Given the description of an element on the screen output the (x, y) to click on. 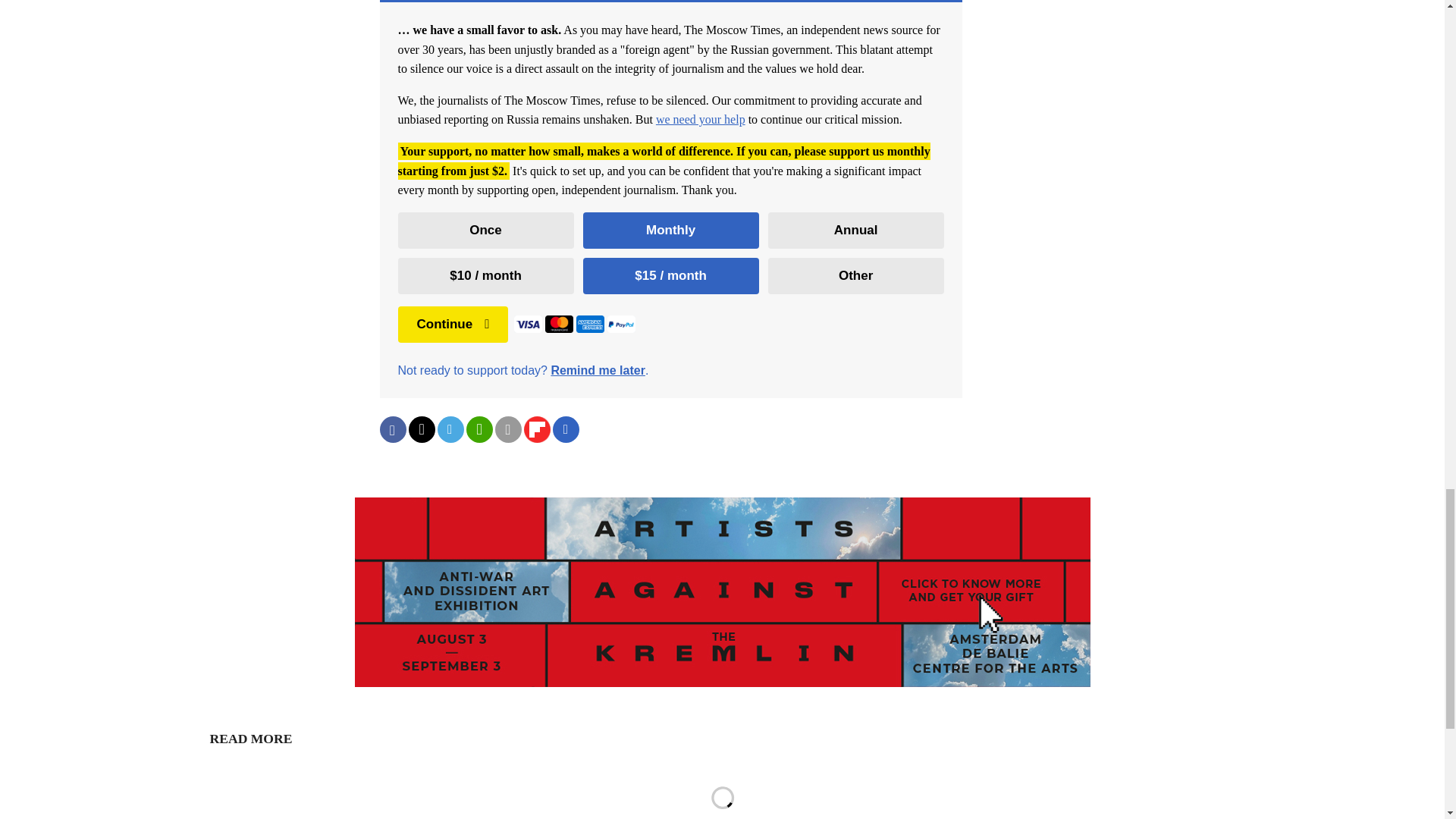
Share on Twitter (420, 429)
Share on Facebook (392, 429)
Share on Telegram (449, 429)
Share on Flipboard (536, 429)
we need your help (700, 119)
